Given the description of an element on the screen output the (x, y) to click on. 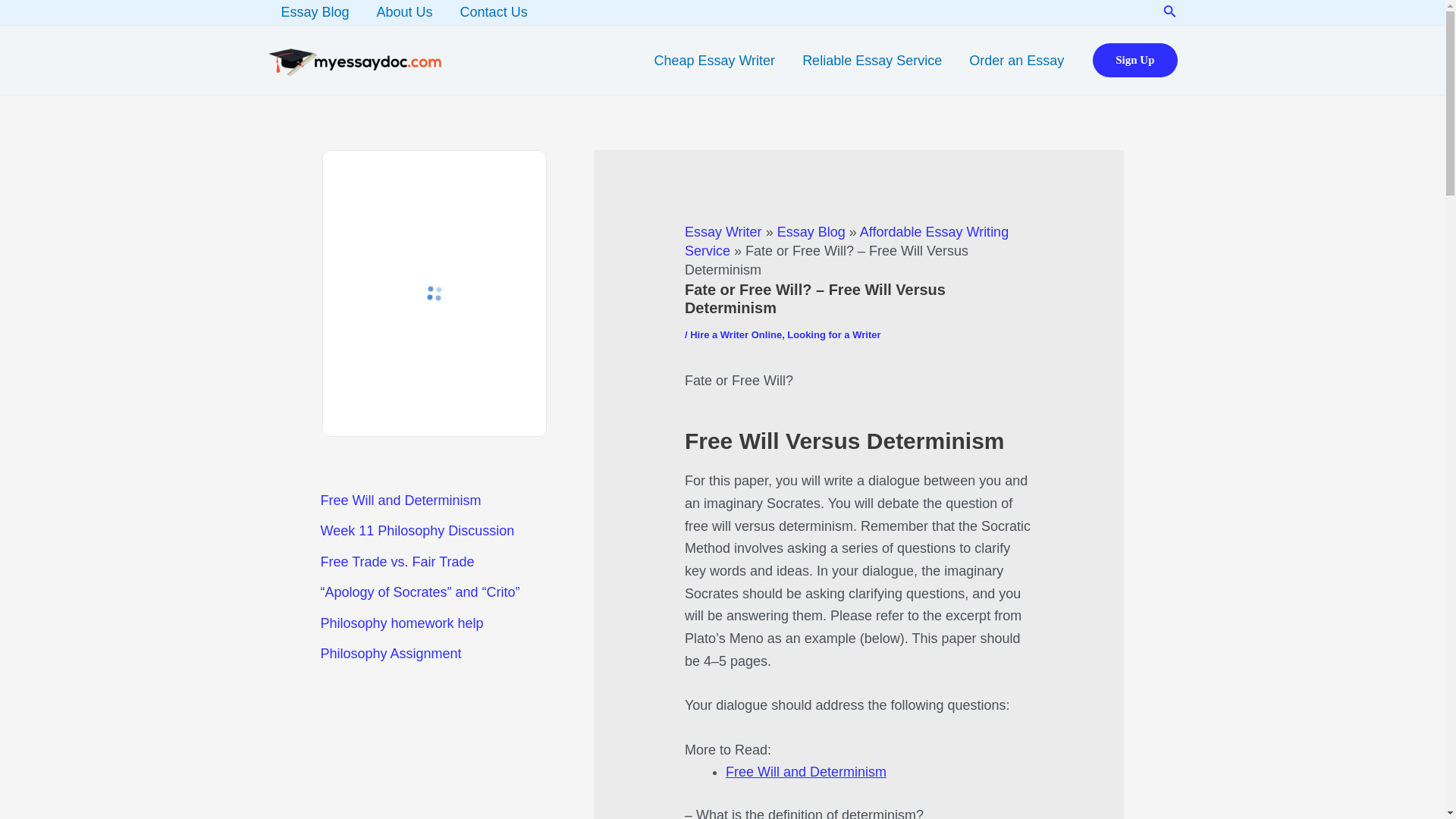
Philosophy Assignment (390, 653)
Contact Us (493, 12)
Looking for a Writer (833, 334)
Free Will and Determinism (805, 771)
Sign Up (1134, 59)
Free Trade vs. Fair Trade (397, 560)
Essay Writer (722, 231)
Hire a Writer Online (735, 334)
Reliable Essay Service (872, 59)
Affordable Essay Writing Service (846, 241)
